Given the description of an element on the screen output the (x, y) to click on. 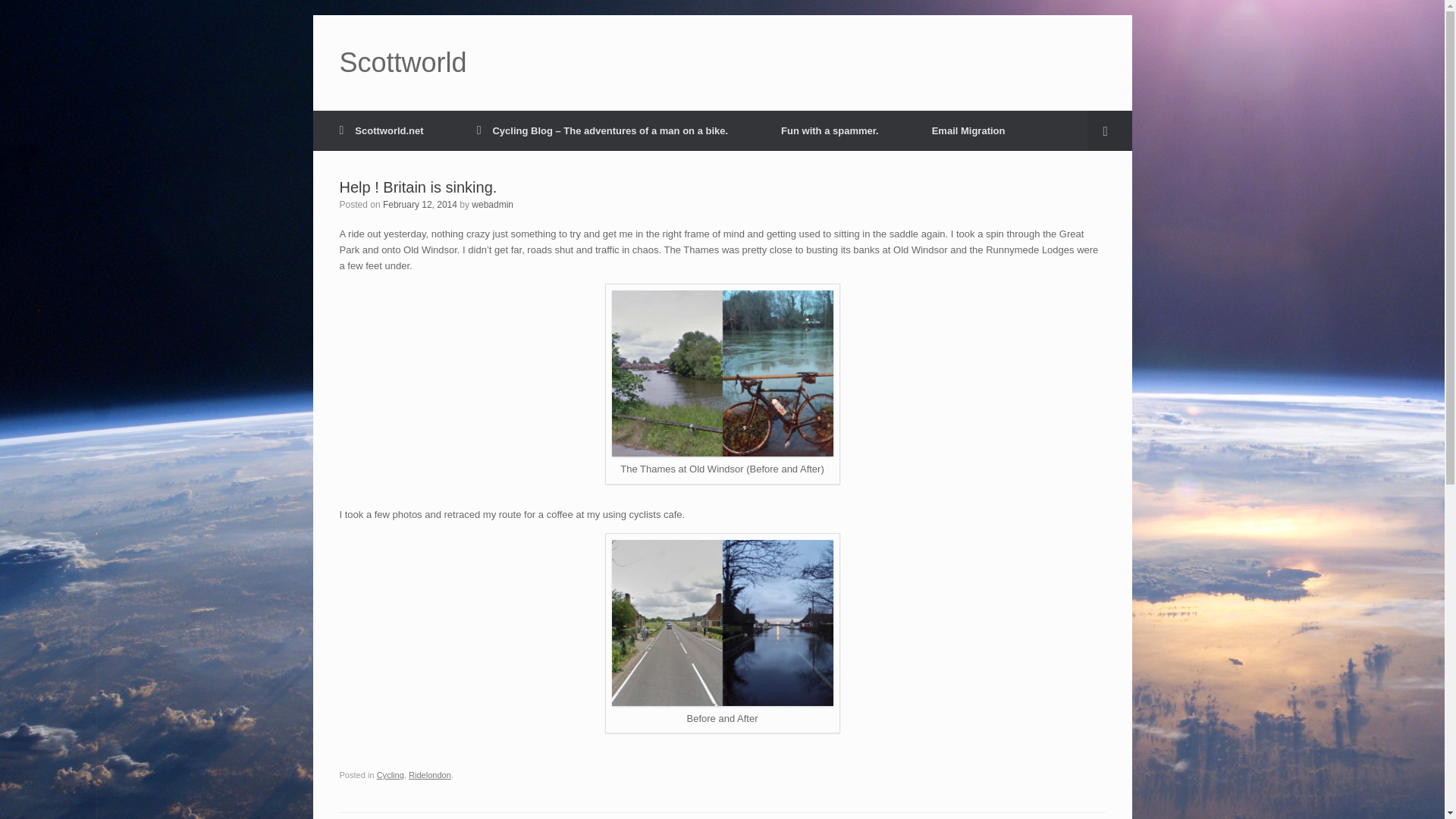
Scottworld (403, 62)
Scottworld.net (381, 130)
webadmin (492, 204)
Ridelondon (430, 774)
2:19 pm (419, 204)
View all posts by webadmin (492, 204)
February 12, 2014 (419, 204)
Fun with a spammer. (829, 130)
Scottworld (403, 62)
Email Migration (968, 130)
Cycling (390, 774)
